Given the description of an element on the screen output the (x, y) to click on. 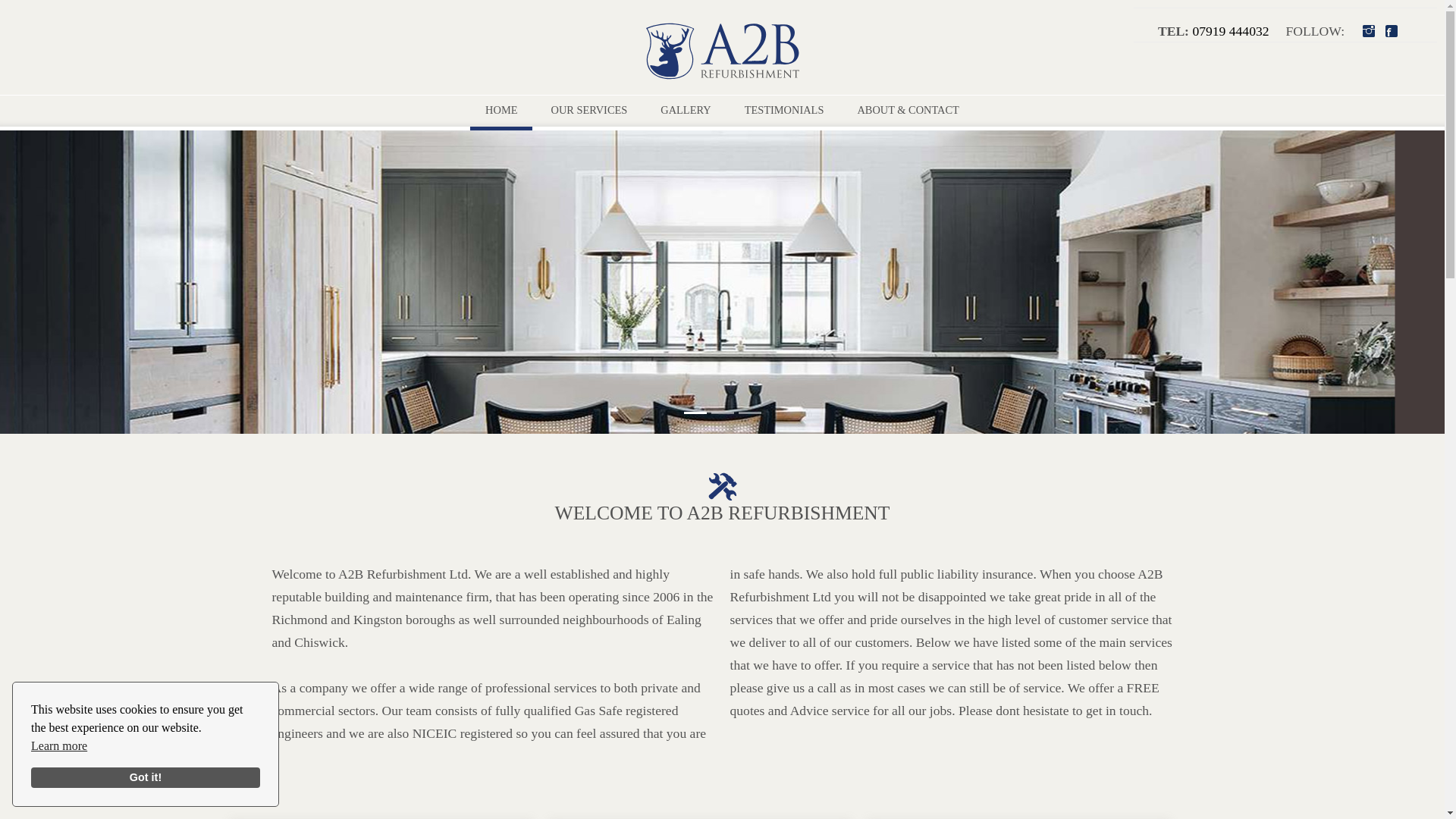
Instagram (1376, 32)
Facebook (1398, 32)
Learn more (58, 746)
HOME (501, 110)
OUR SERVICES (588, 110)
GALLERY (685, 110)
TESTIMONIALS (784, 110)
Got it! (145, 777)
A2B Refurbishment in London (722, 52)
